Given the description of an element on the screen output the (x, y) to click on. 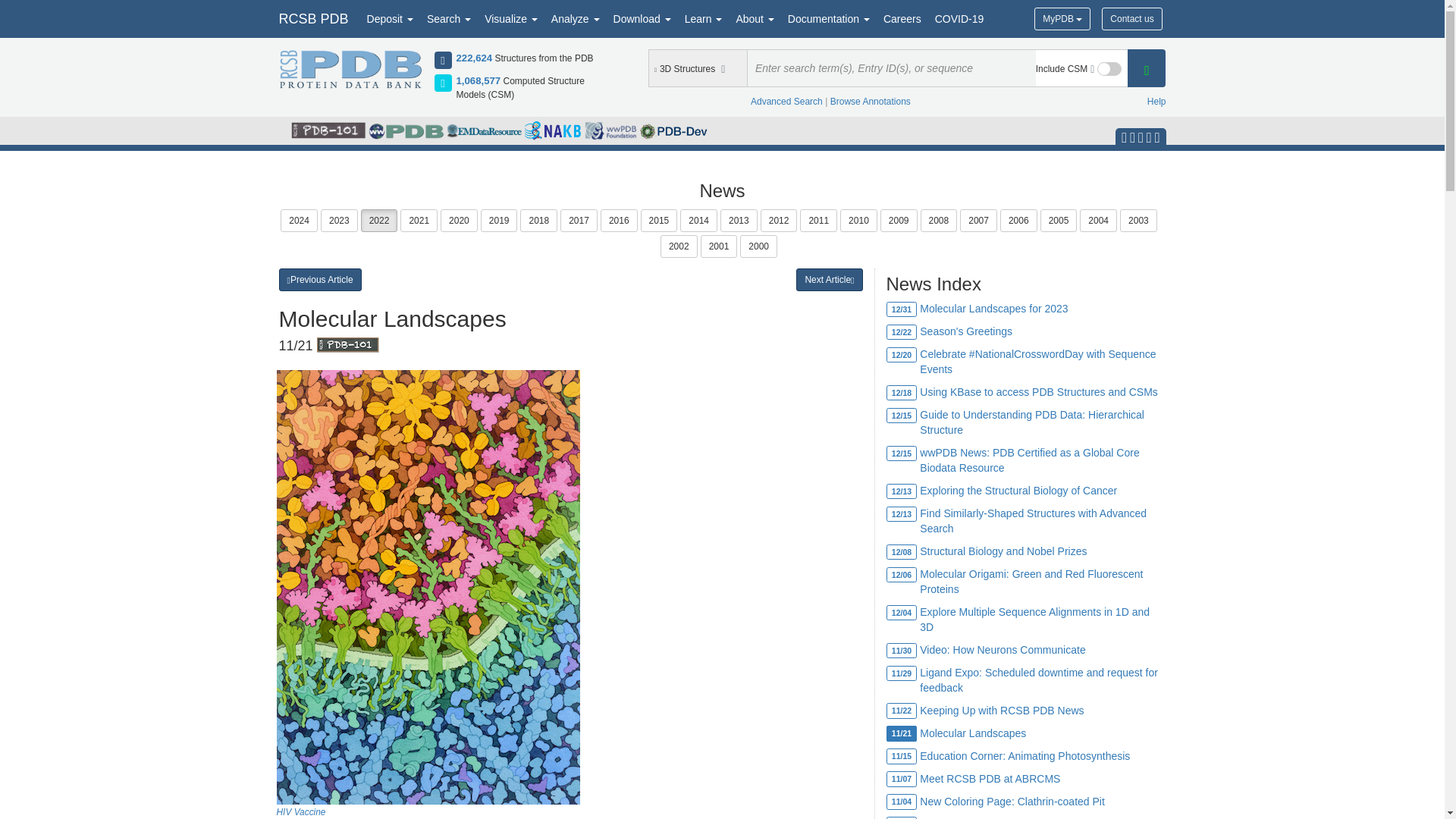
Search  (448, 18)
Deposit  (389, 18)
RCSB PDB (312, 18)
MyPDB (1061, 18)
